Given the description of an element on the screen output the (x, y) to click on. 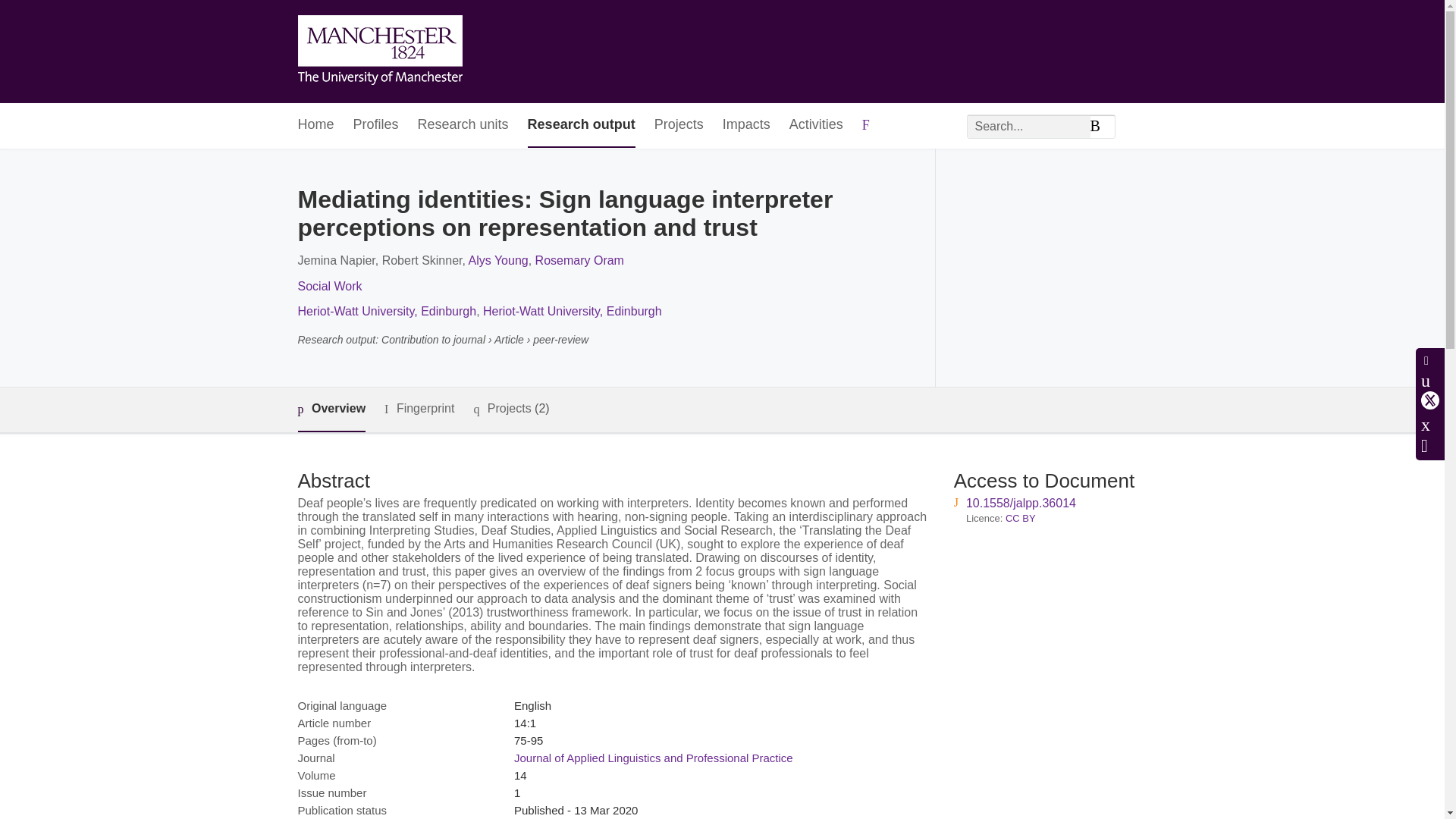
Research Explorer The University of Manchester Home (379, 51)
Projects (678, 125)
Research output (580, 125)
Research units (462, 125)
CC BY (1020, 518)
Heriot-Watt University, Edinburgh (572, 310)
Impacts (746, 125)
Rosemary Oram (579, 259)
Journal of Applied Linguistics and Professional Practice (653, 757)
